Given the description of an element on the screen output the (x, y) to click on. 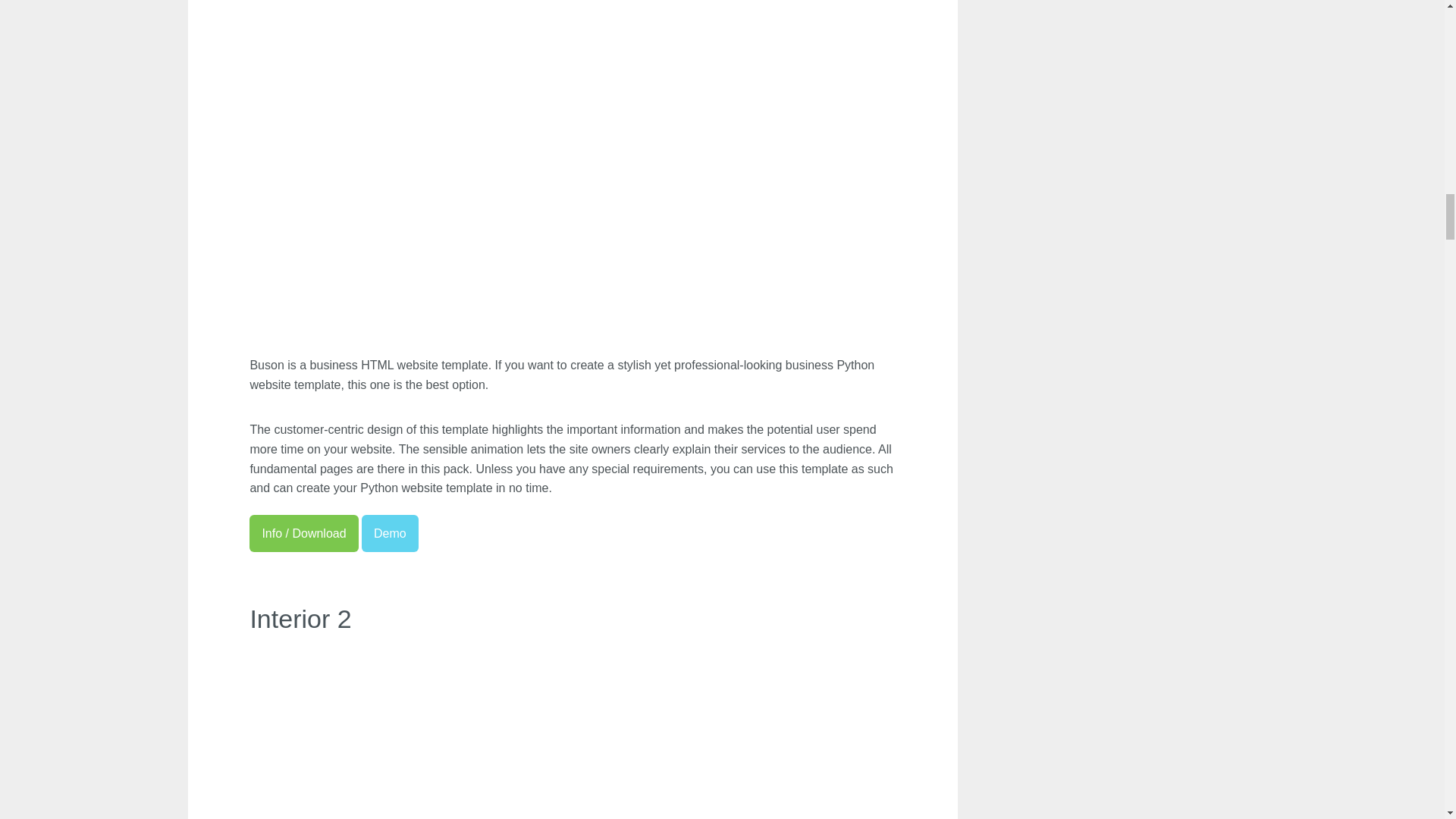
Demo (390, 533)
